Given the description of an element on the screen output the (x, y) to click on. 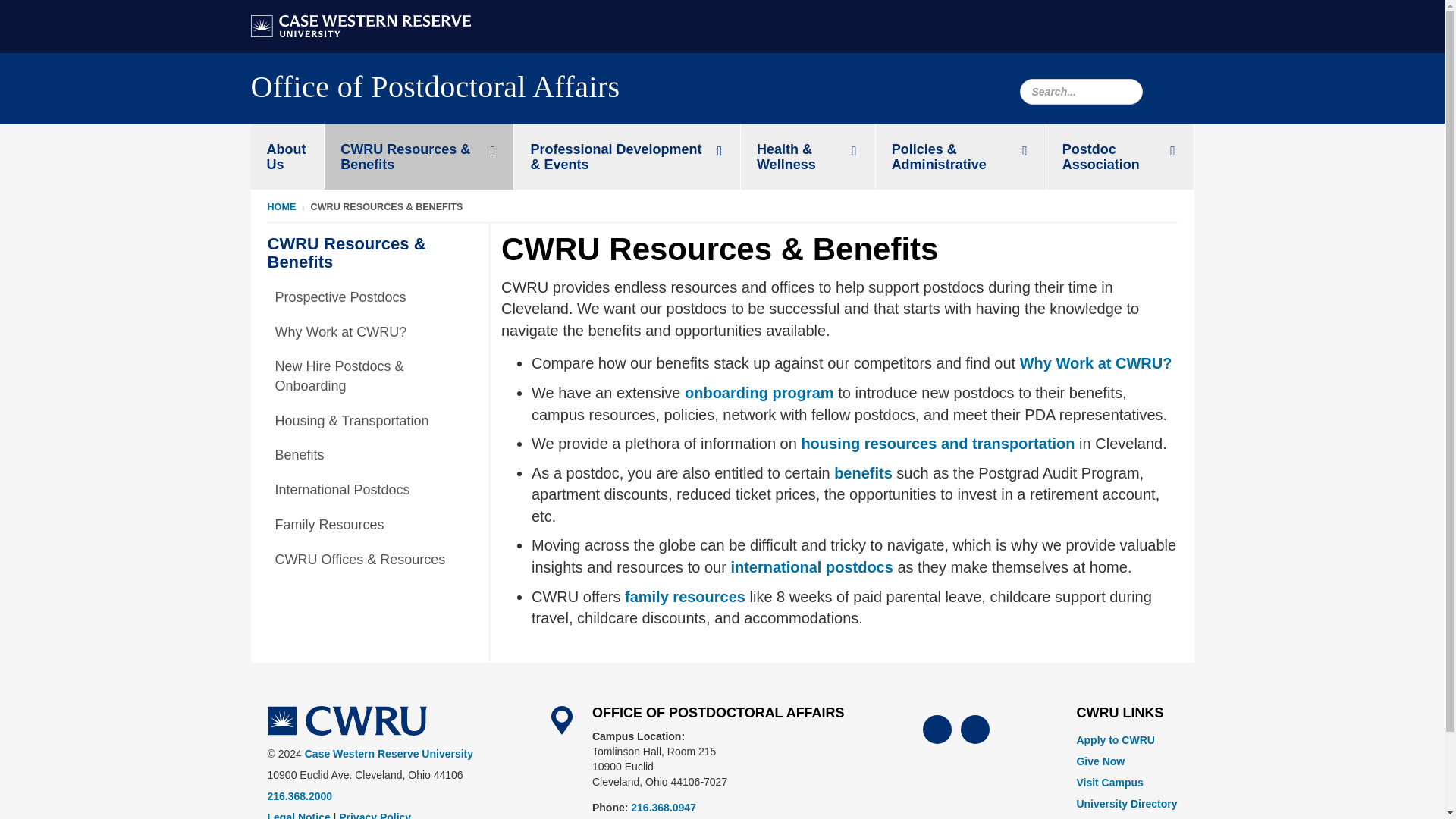
CWRU Linkedin (975, 728)
Office of Postdoctoral Affairs (435, 91)
About Us (286, 156)
Case Western Reserve University (360, 25)
Postdoc Association (1119, 156)
CWRU Facebook (937, 728)
Go to case.edu (360, 24)
searchbox (1080, 91)
Case Western Reserve University (346, 720)
